Given the description of an element on the screen output the (x, y) to click on. 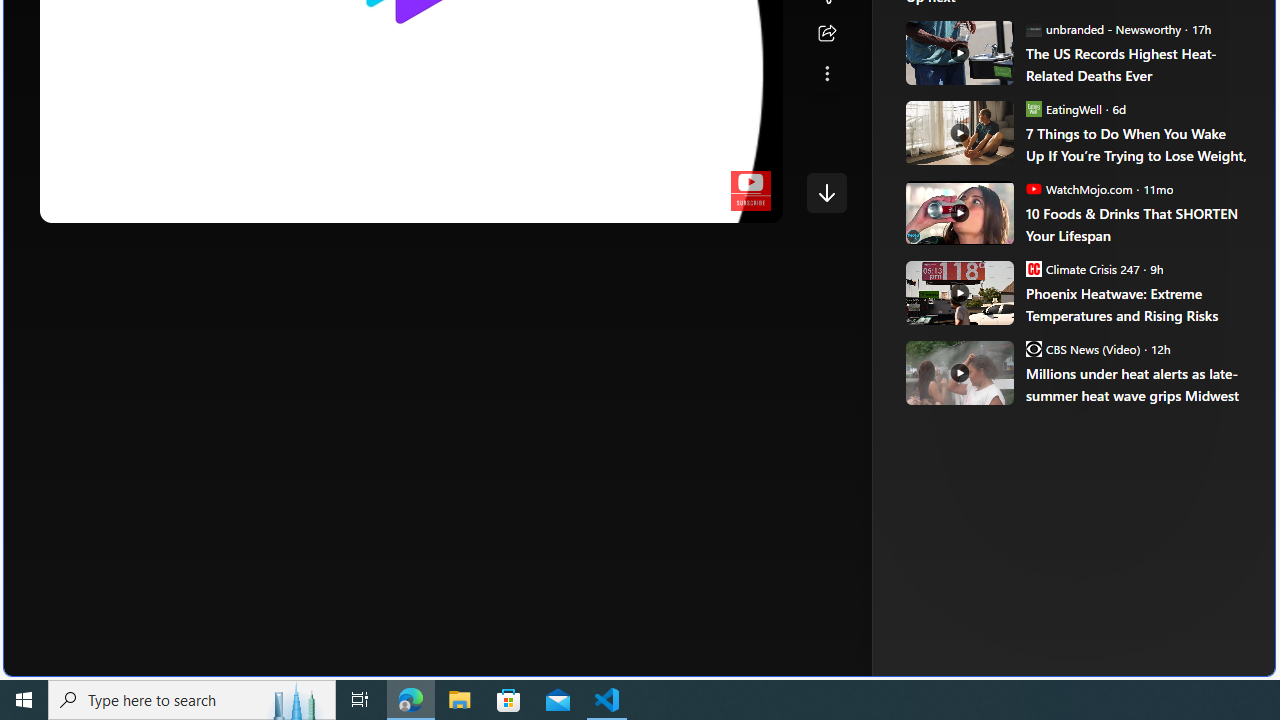
Share this story (826, 33)
Watch on YouTube (697, 202)
Class: ytp-subtitles-button-icon (603, 202)
EatingWell (1033, 108)
unbranded - Newsworthy unbranded - Newsworthy (1103, 28)
EatingWell EatingWell (1063, 108)
Climate Crisis 247 Climate Crisis 247 (1082, 268)
10 Foods & Drinks That SHORTEN Your Lifespan (1136, 224)
Settings (644, 202)
Subtitles/closed captions unavailable (603, 202)
